Given the description of an element on the screen output the (x, y) to click on. 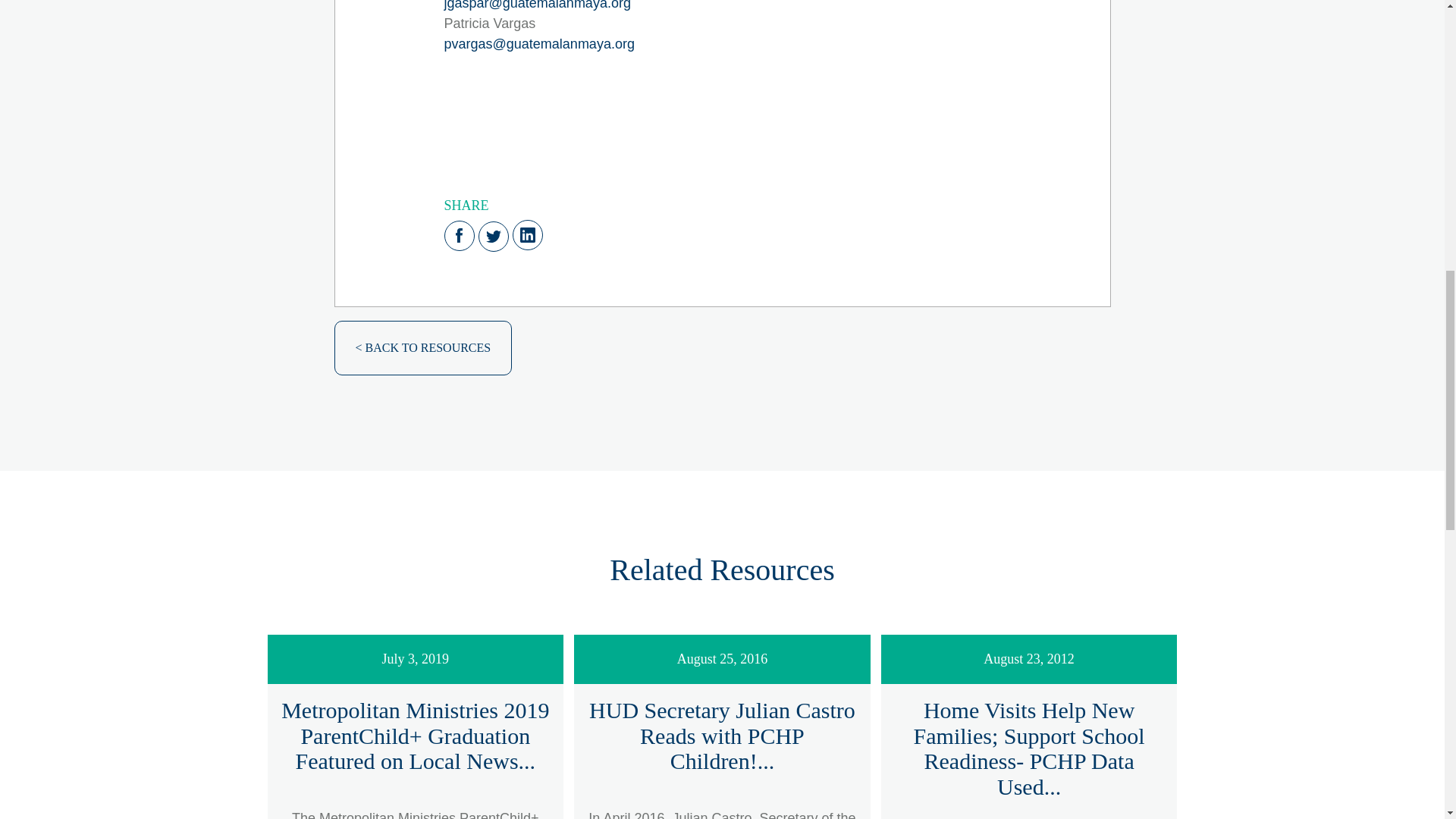
Share on Facebook (459, 235)
